Given the description of an element on the screen output the (x, y) to click on. 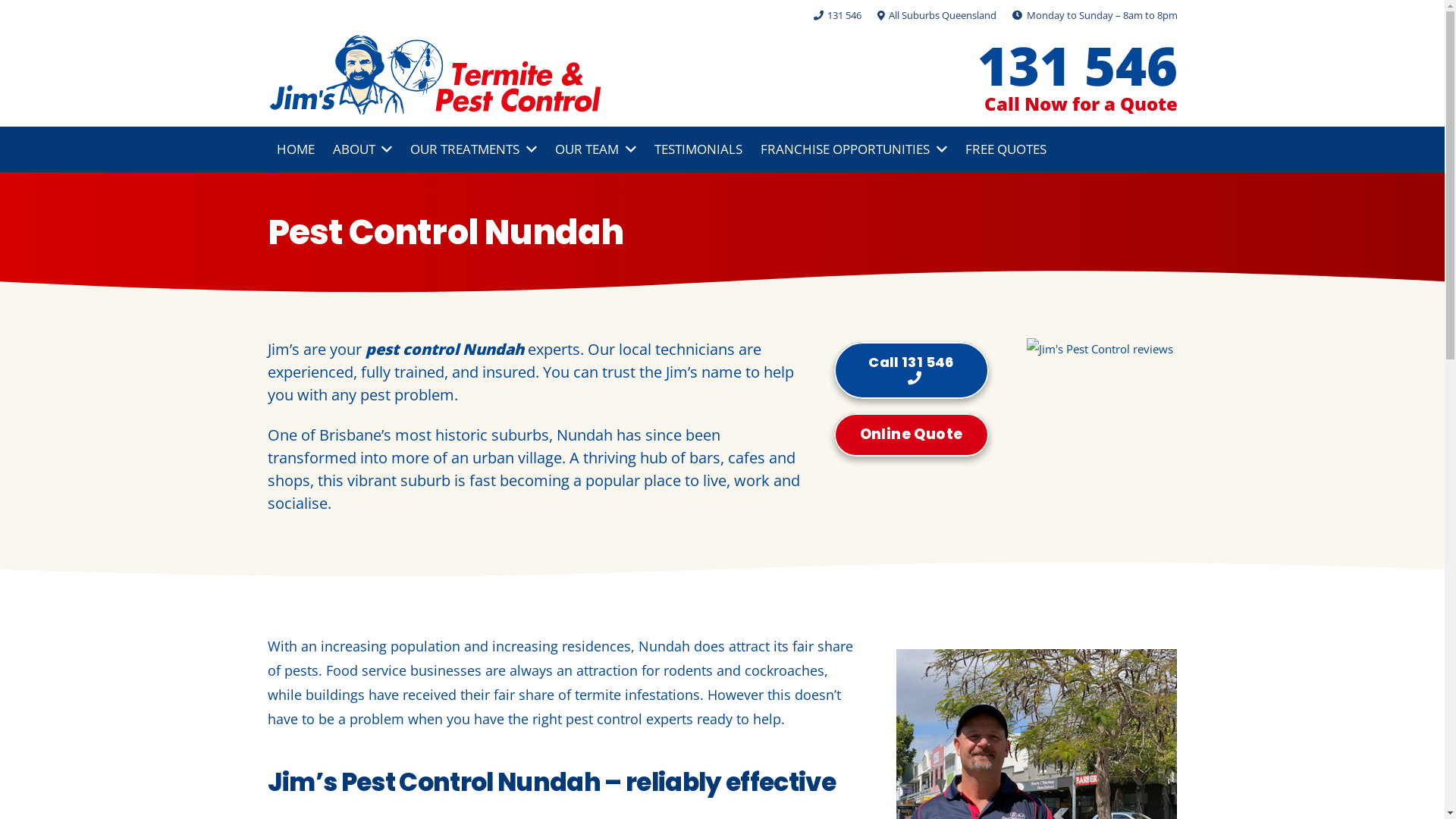
Call 131 546 Element type: text (911, 369)
OUR TEAM Element type: text (595, 149)
OUR TREATMENTS Element type: text (473, 149)
Online Quote Element type: text (911, 434)
HOME Element type: text (294, 149)
FRANCHISE OPPORTUNITIES Element type: text (853, 149)
TESTIMONIALS Element type: text (698, 149)
131 546 Element type: text (1077, 64)
ABOUT Element type: text (362, 149)
FREE QUOTES Element type: text (1005, 149)
